Given the description of an element on the screen output the (x, y) to click on. 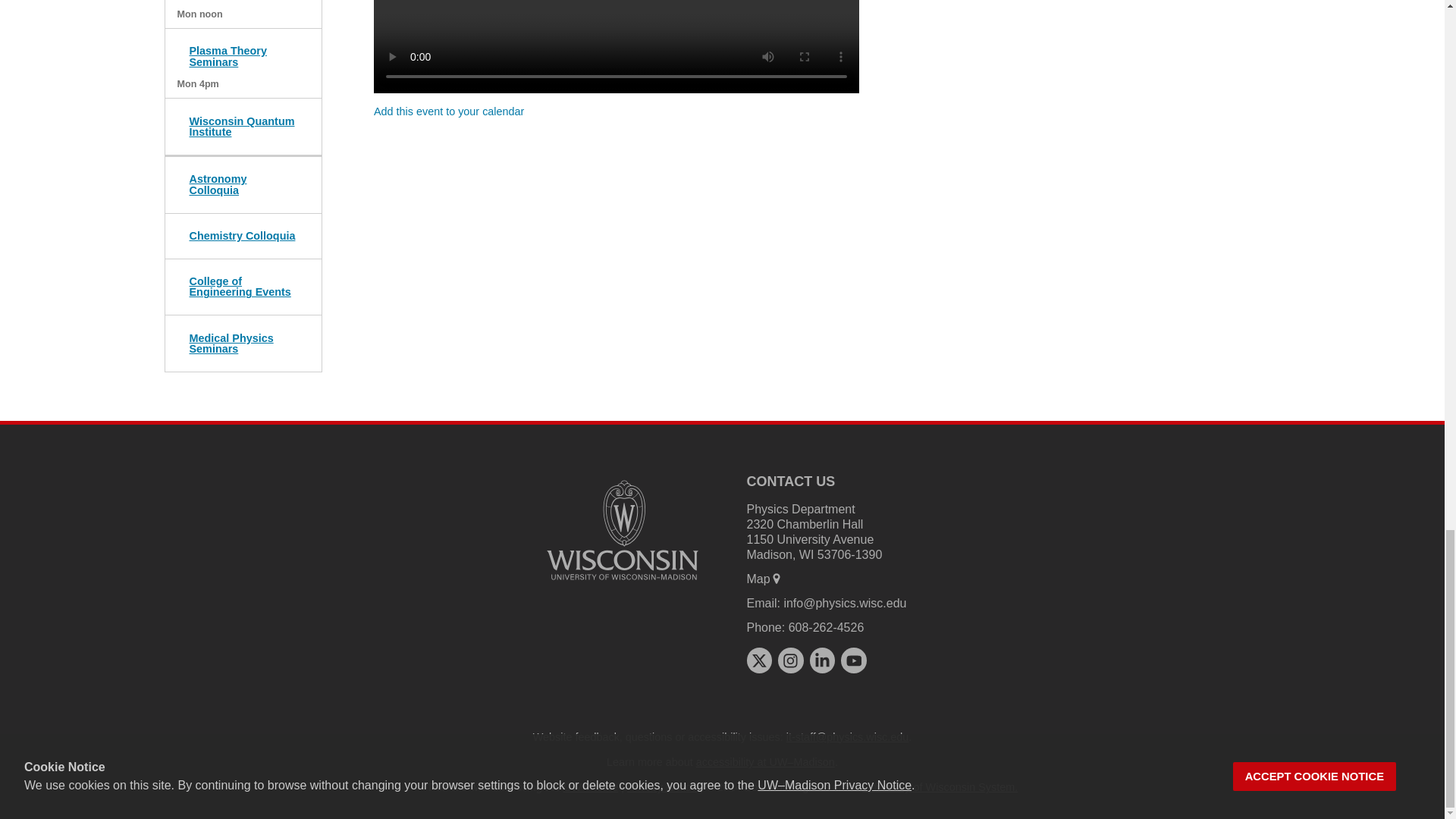
instagram (790, 660)
map marker (776, 578)
linkedin (821, 660)
University logo that links to main university website (621, 530)
x twitter (759, 660)
youtube (853, 660)
